Given the description of an element on the screen output the (x, y) to click on. 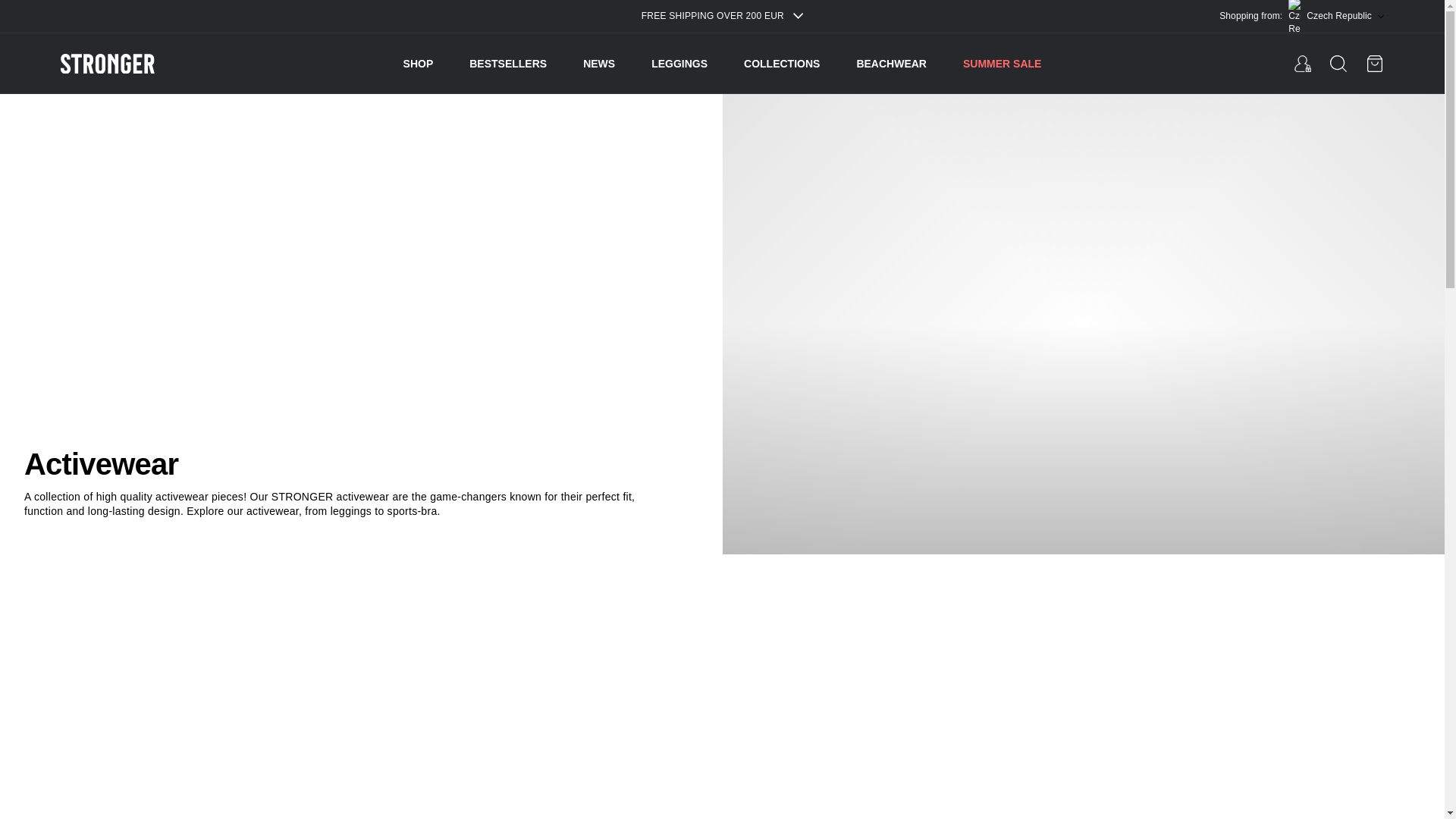
SUMMER SALE (1001, 63)
LEGGINGS (678, 63)
Open search (1338, 63)
Open cart (1374, 63)
BESTSELLERS (507, 63)
Stronger (144, 64)
leggings (350, 510)
BEACHWEAR (891, 63)
COLLECTIONS (781, 63)
